Given the description of an element on the screen output the (x, y) to click on. 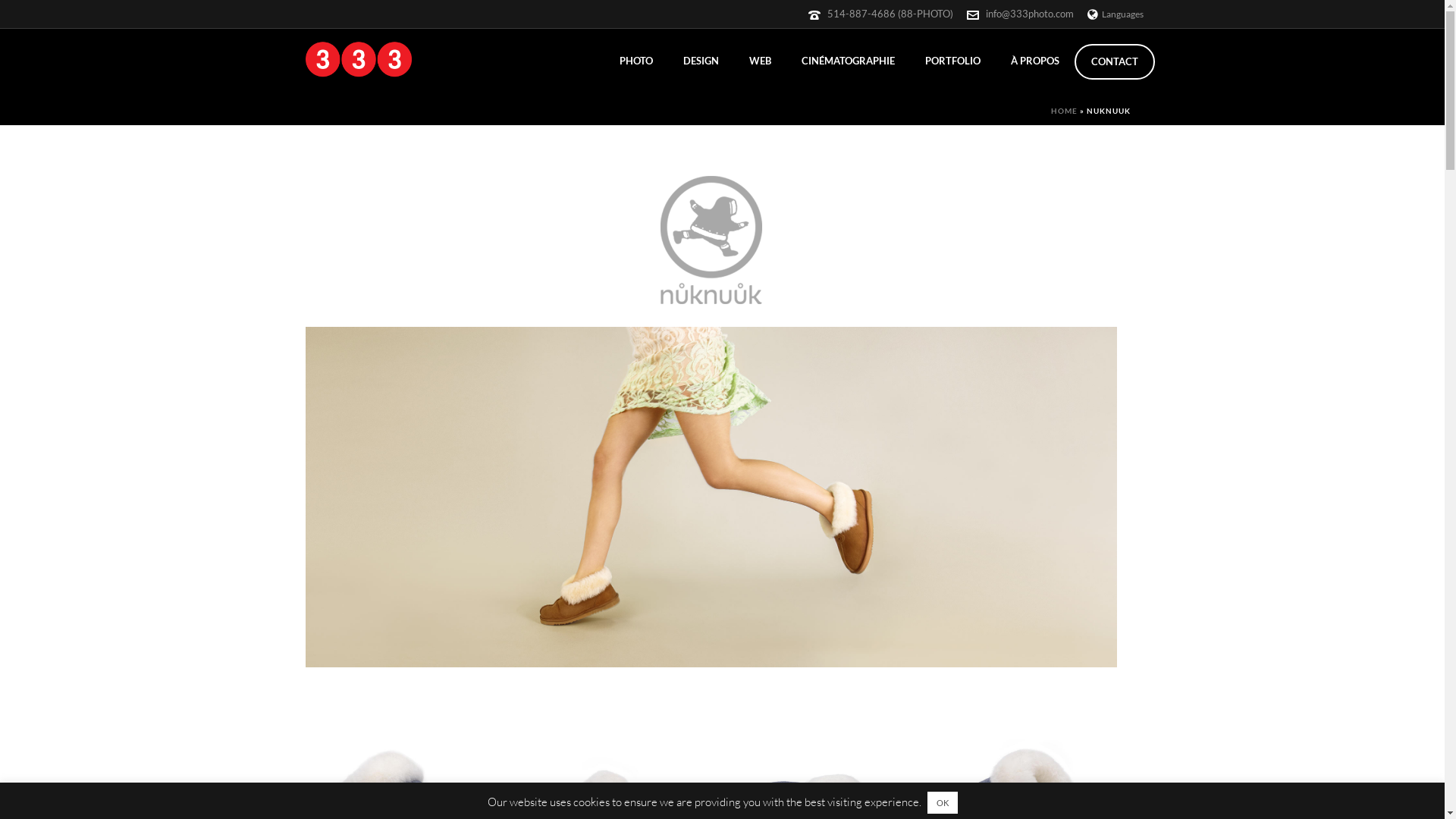
DESIGN Element type: text (700, 58)
HOME Element type: text (1064, 110)
514-887-4686 (88-PHOTO) Element type: text (890, 13)
nuknuuk_jd13848_warmer Element type: hover (710, 496)
PORTFOLIO Element type: text (952, 58)
CONTACT Element type: text (1113, 61)
OK Element type: text (941, 802)
WEB Element type: text (760, 58)
PHOTO Element type: text (635, 58)
info@333photo.com Element type: text (1029, 13)
Languages Element type: text (1115, 13)
